Given the description of an element on the screen output the (x, y) to click on. 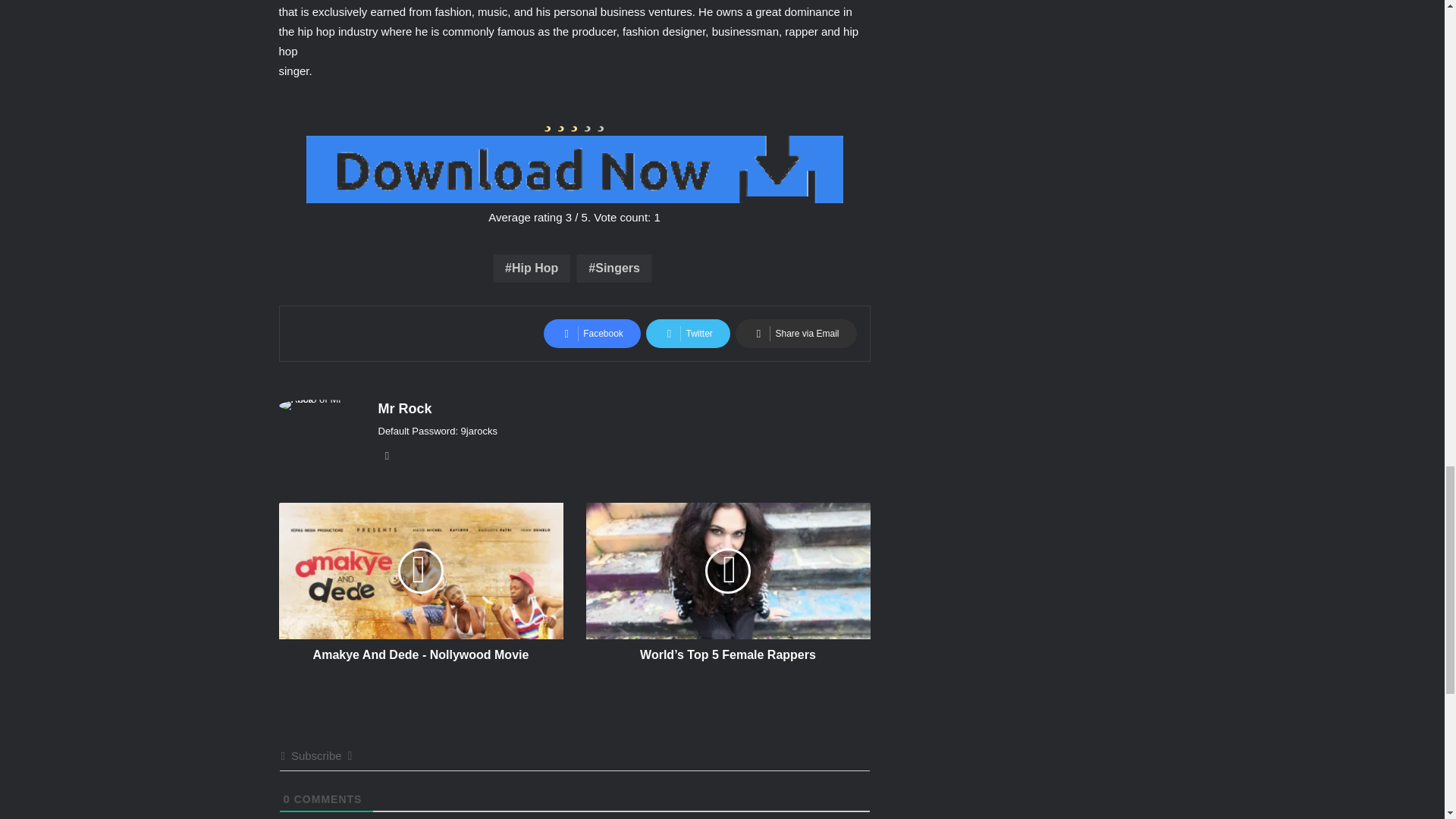
Mr Rock (403, 408)
Facebook (591, 333)
Singers (614, 267)
Share via Email (795, 333)
Hip Hop (531, 267)
Facebook (591, 333)
Share via Email (795, 333)
Twitter (687, 333)
Twitter (687, 333)
